Given the description of an element on the screen output the (x, y) to click on. 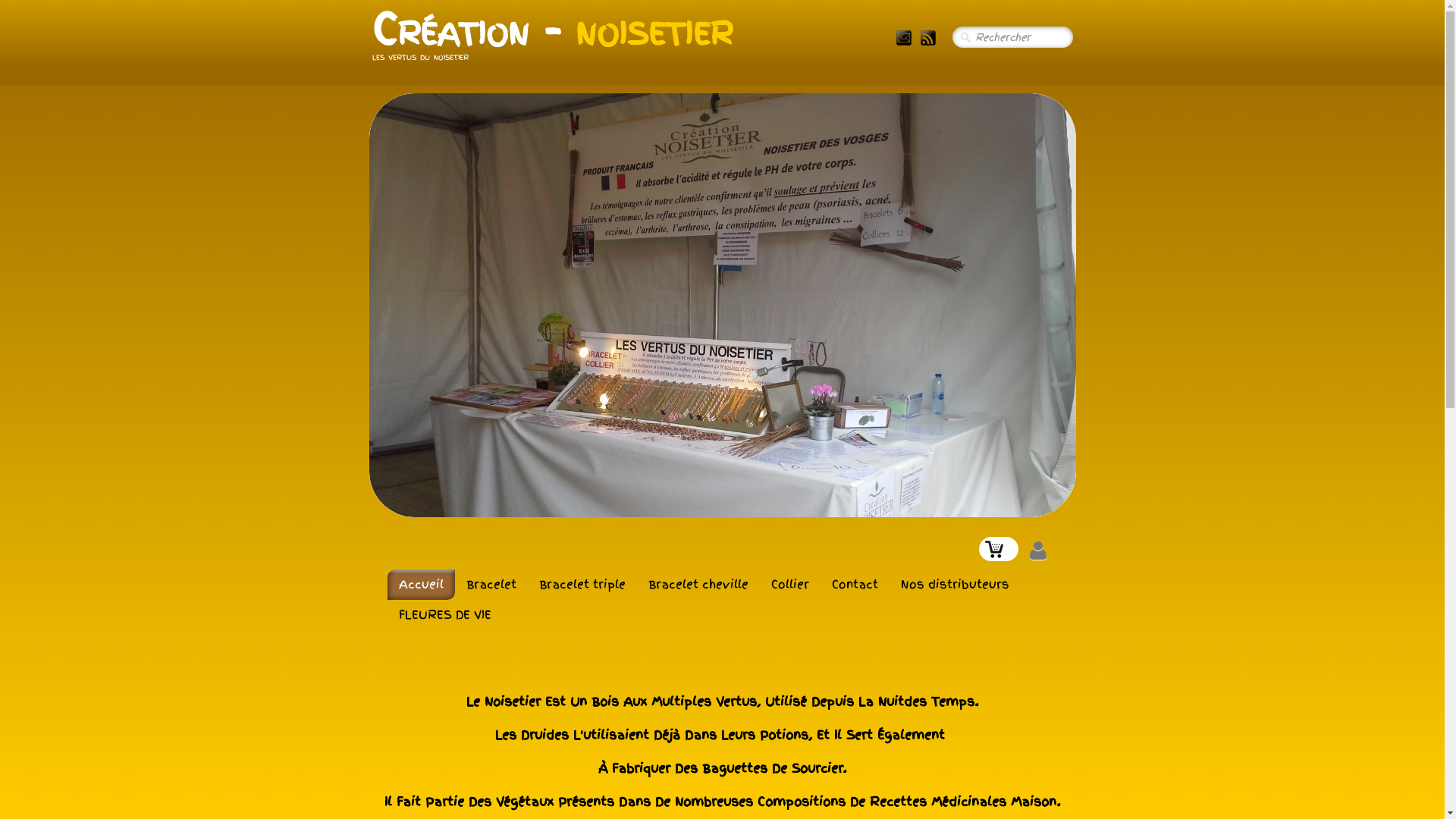
FLEURES DE VIE Element type: text (444, 614)
Accueil Element type: text (420, 584)
Collier Element type: text (789, 584)
Nos distributeurs Element type: text (953, 584)
Bracelet triple Element type: text (582, 584)
Contact Element type: text (854, 584)
Bracelet cheville Element type: text (698, 584)
Mon compte Element type: hover (1037, 550)
Bracelet Element type: text (491, 584)
Panier Element type: hover (997, 548)
